Given the description of an element on the screen output the (x, y) to click on. 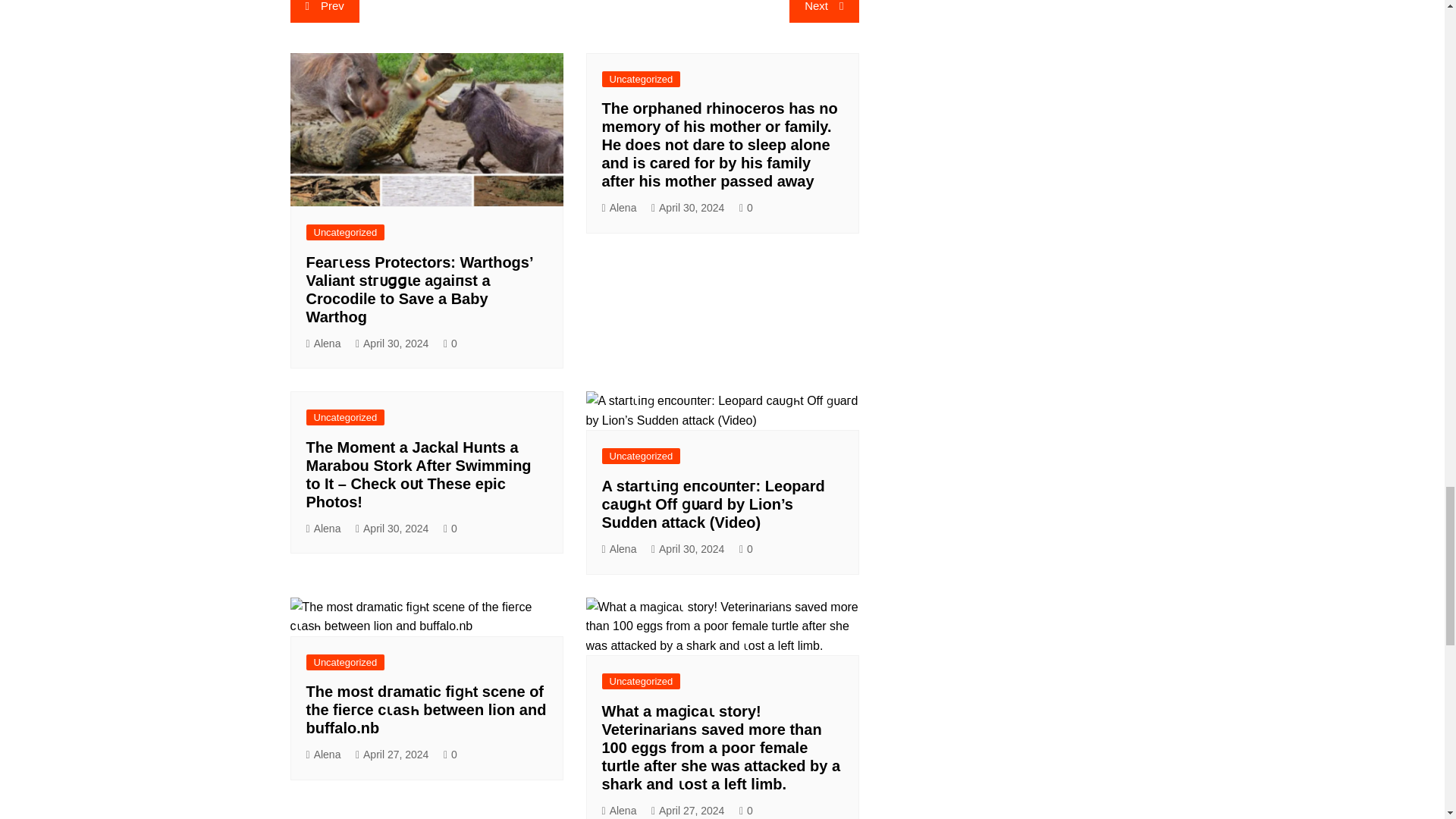
Alena (322, 754)
Uncategorized (345, 662)
April 30, 2024 (687, 548)
April 30, 2024 (392, 343)
Prev (323, 11)
April 27, 2024 (392, 754)
April 30, 2024 (392, 528)
Uncategorized (641, 455)
April 30, 2024 (687, 208)
Alena (619, 208)
Next (824, 11)
Alena (322, 343)
Uncategorized (641, 78)
Uncategorized (345, 417)
